Given the description of an element on the screen output the (x, y) to click on. 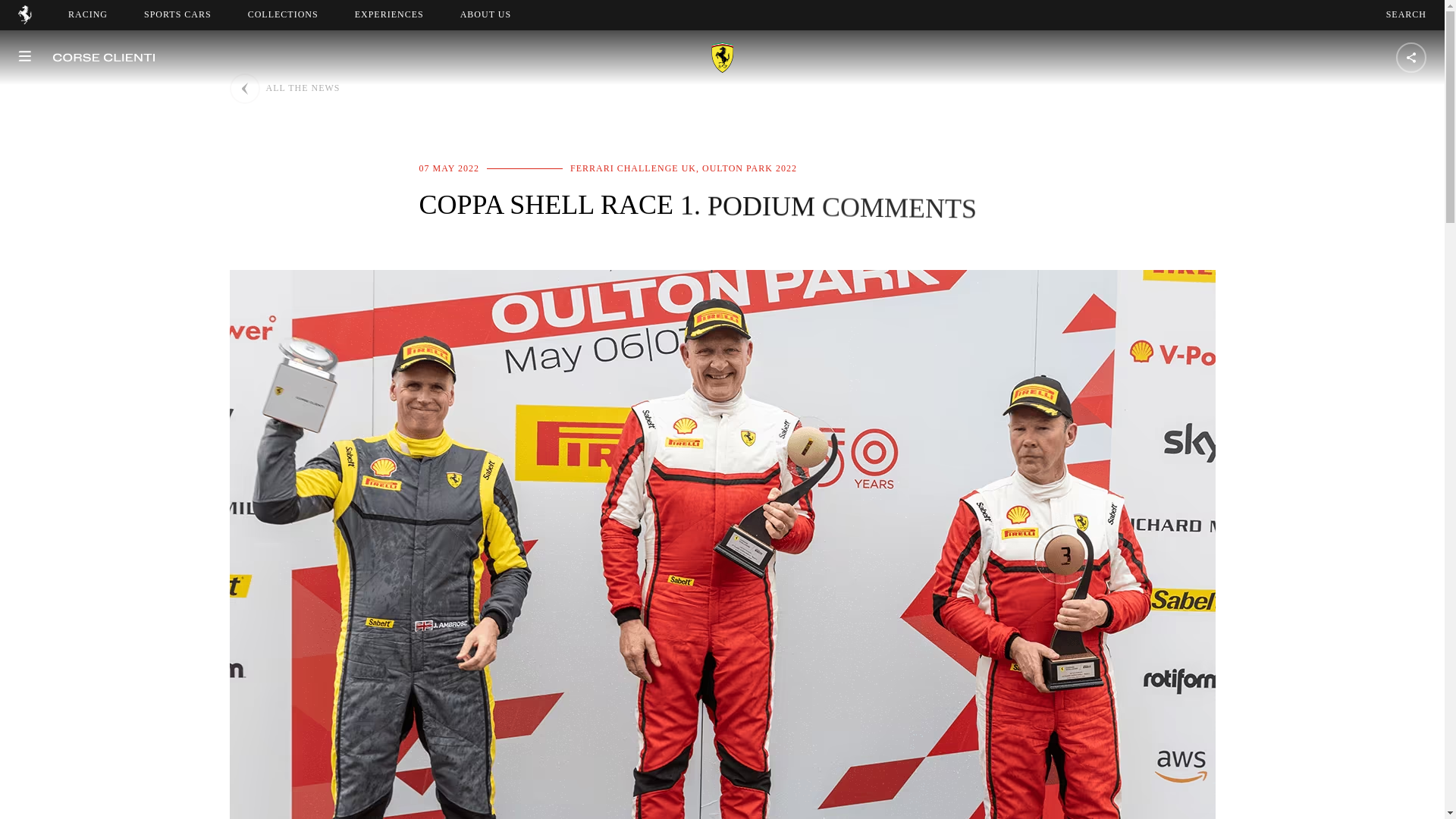
SEARCH (1406, 14)
Ferrari logo (24, 19)
ALL THE NEWS (283, 88)
ABOUT US (485, 14)
SPORTS CARS (177, 14)
EXPERIENCES (389, 14)
RACING (87, 14)
COLLECTIONS (282, 14)
